Given the description of an element on the screen output the (x, y) to click on. 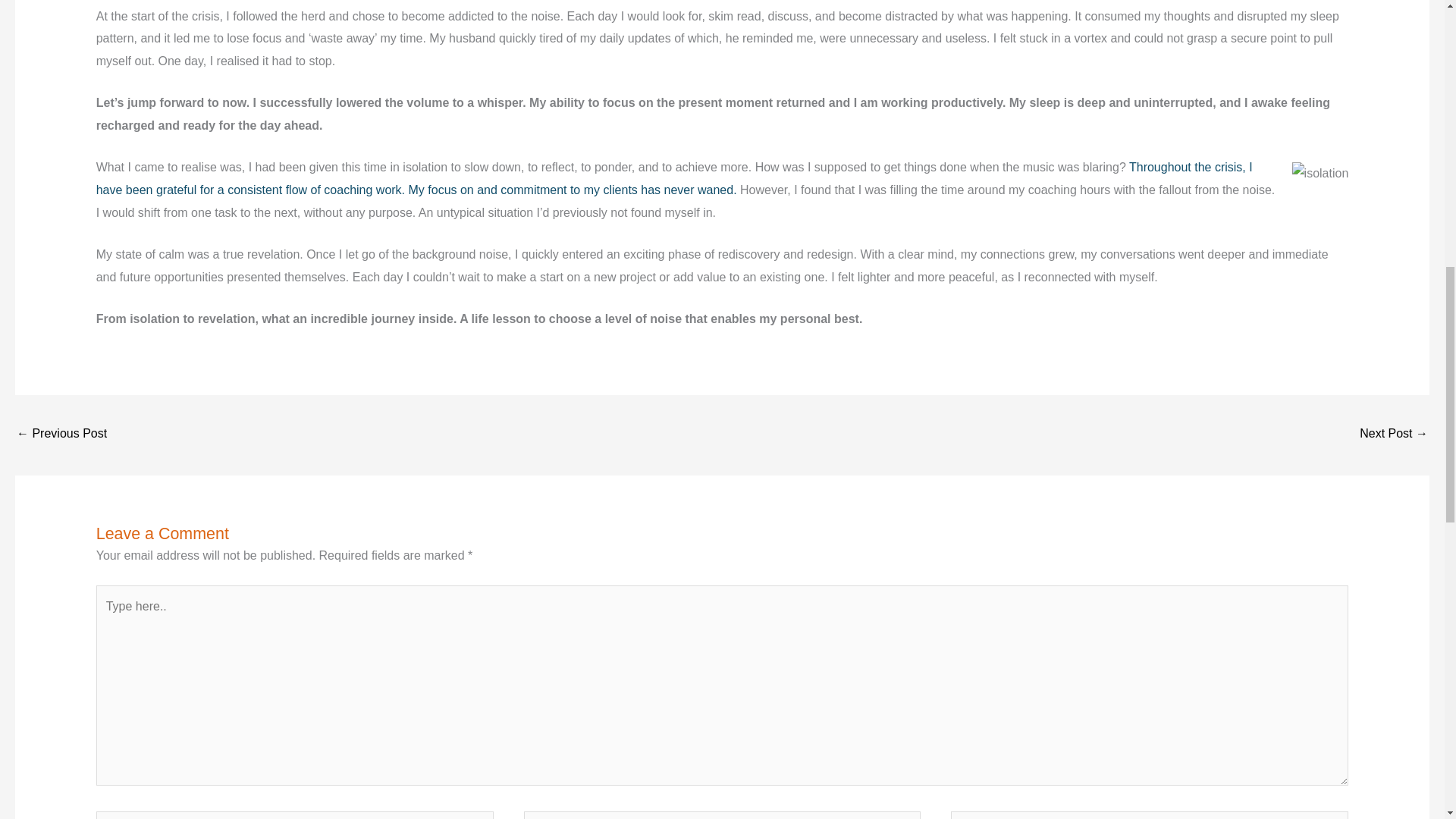
Ignite Your Can Do Mindset: Finding Joy in the Moment (1393, 434)
Ignite Your Can Do Mindset: Why I Walk in Nature (61, 434)
